Given the description of an element on the screen output the (x, y) to click on. 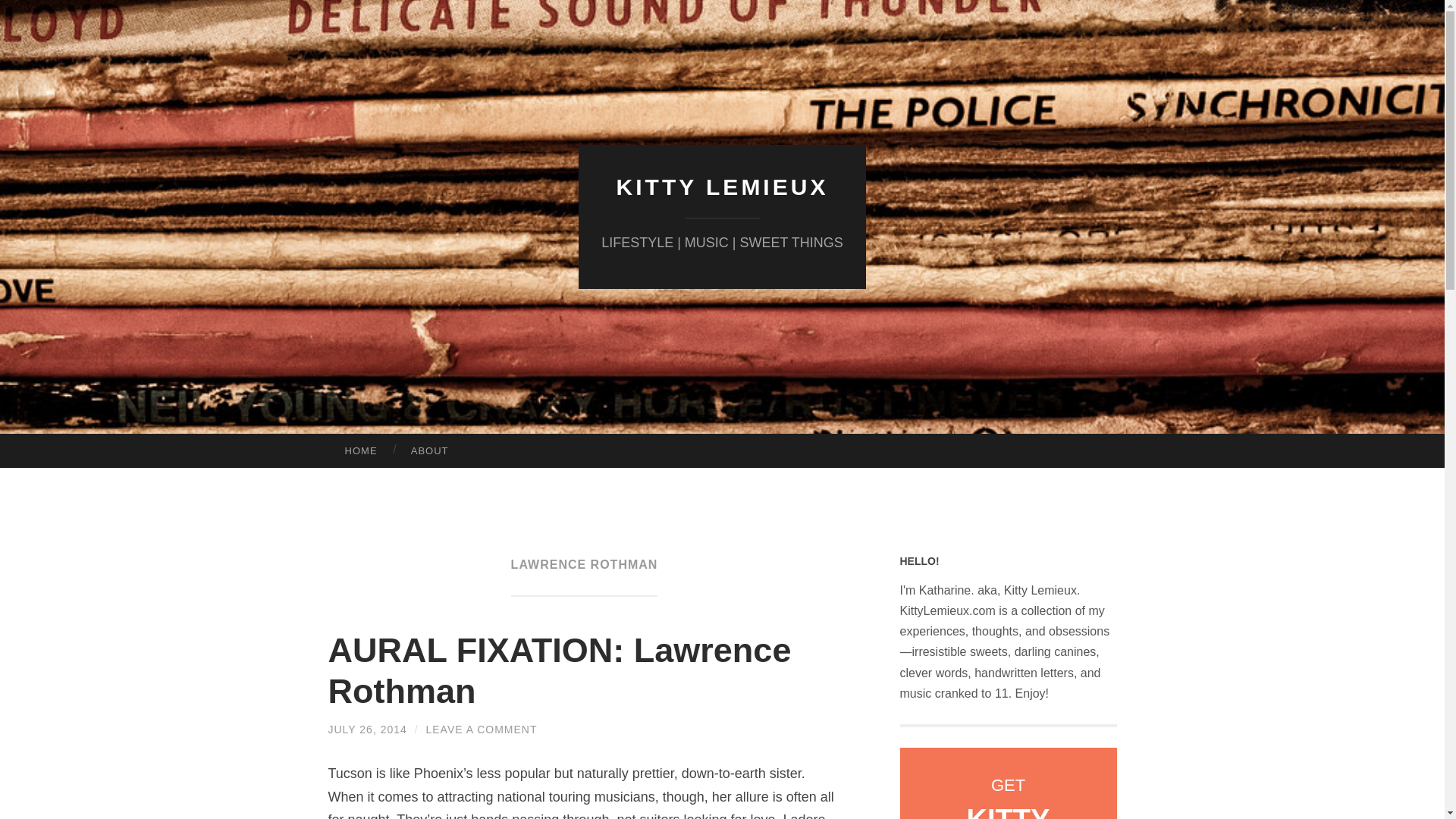
AURAL FIXATION: Lawrence Rothman (558, 670)
SKIP TO CONTENT (16, 445)
HOME (360, 451)
KITTY LEMIEUX (721, 186)
ABOUT (429, 451)
LEAVE A COMMENT (481, 729)
JULY 26, 2014 (366, 729)
